Given the description of an element on the screen output the (x, y) to click on. 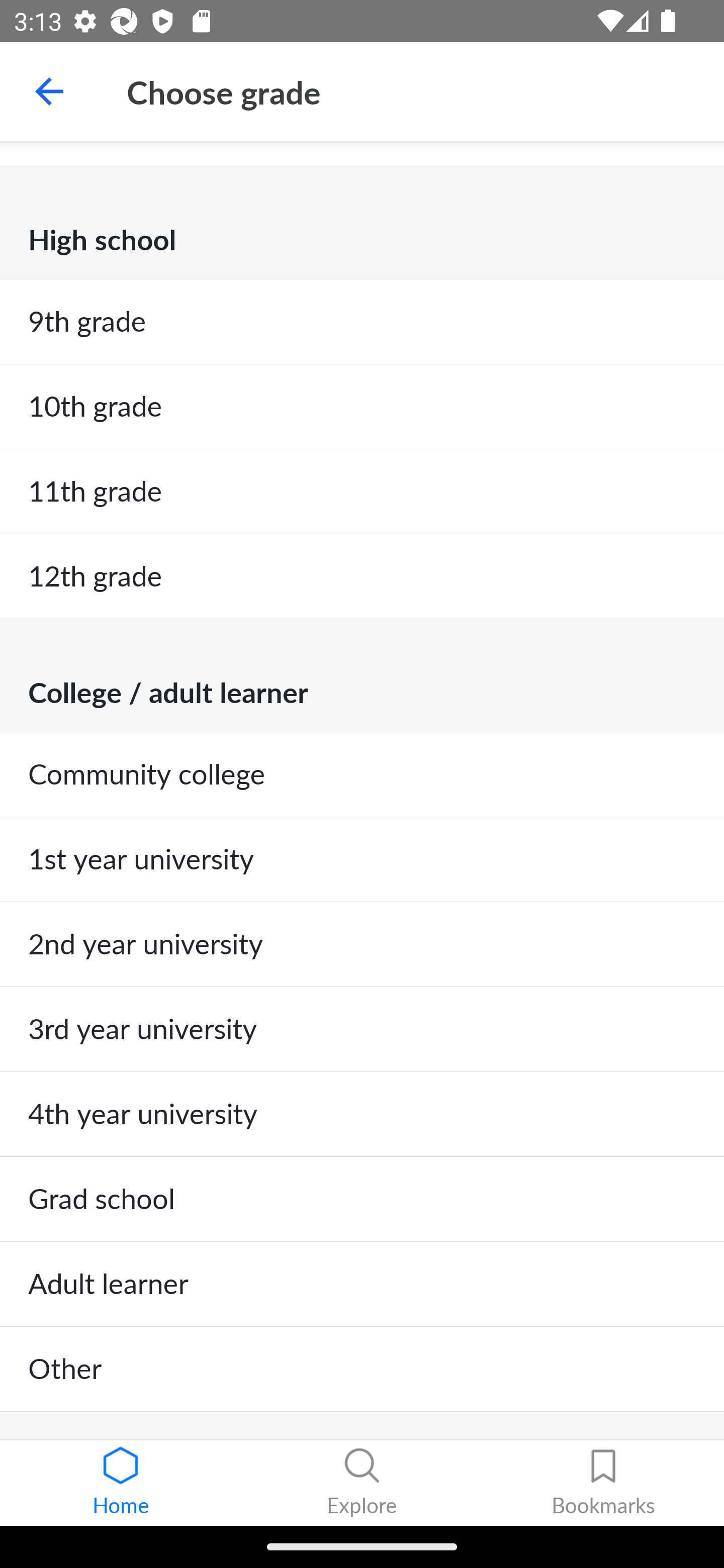
Navigate up (49, 91)
9th grade (362, 321)
10th grade (362, 406)
11th grade (362, 492)
12th grade (362, 576)
Community college (362, 774)
1st year university (362, 858)
2nd year university (362, 943)
3rd year university (362, 1029)
4th year university (362, 1114)
Grad school (362, 1199)
Adult learner (362, 1283)
Other (362, 1368)
Home (120, 1482)
Explore (361, 1482)
Bookmarks (603, 1482)
